Given the description of an element on the screen output the (x, y) to click on. 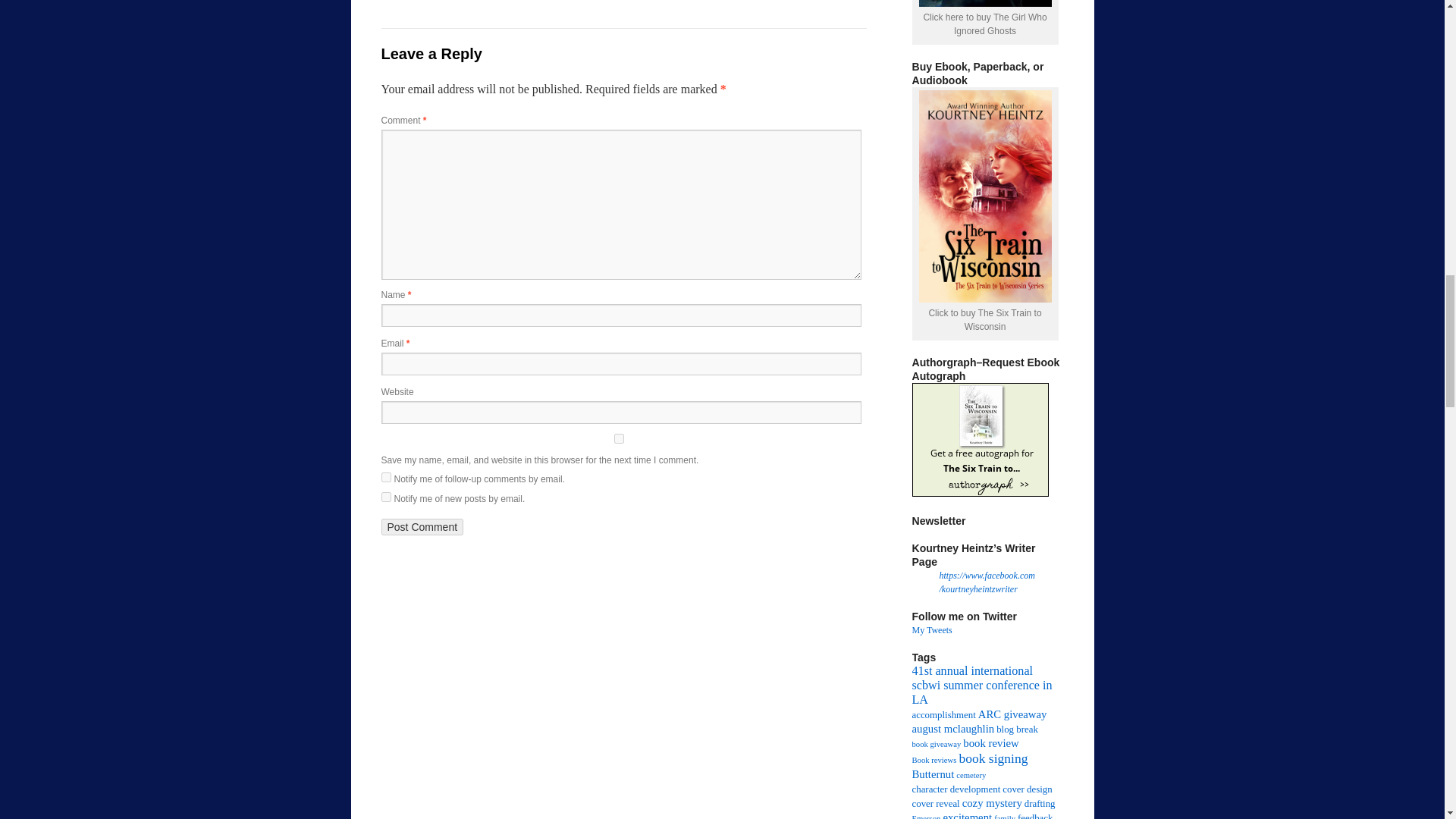
subscribe (385, 497)
Post Comment (421, 526)
subscribe (385, 477)
yes (618, 438)
